Given the description of an element on the screen output the (x, y) to click on. 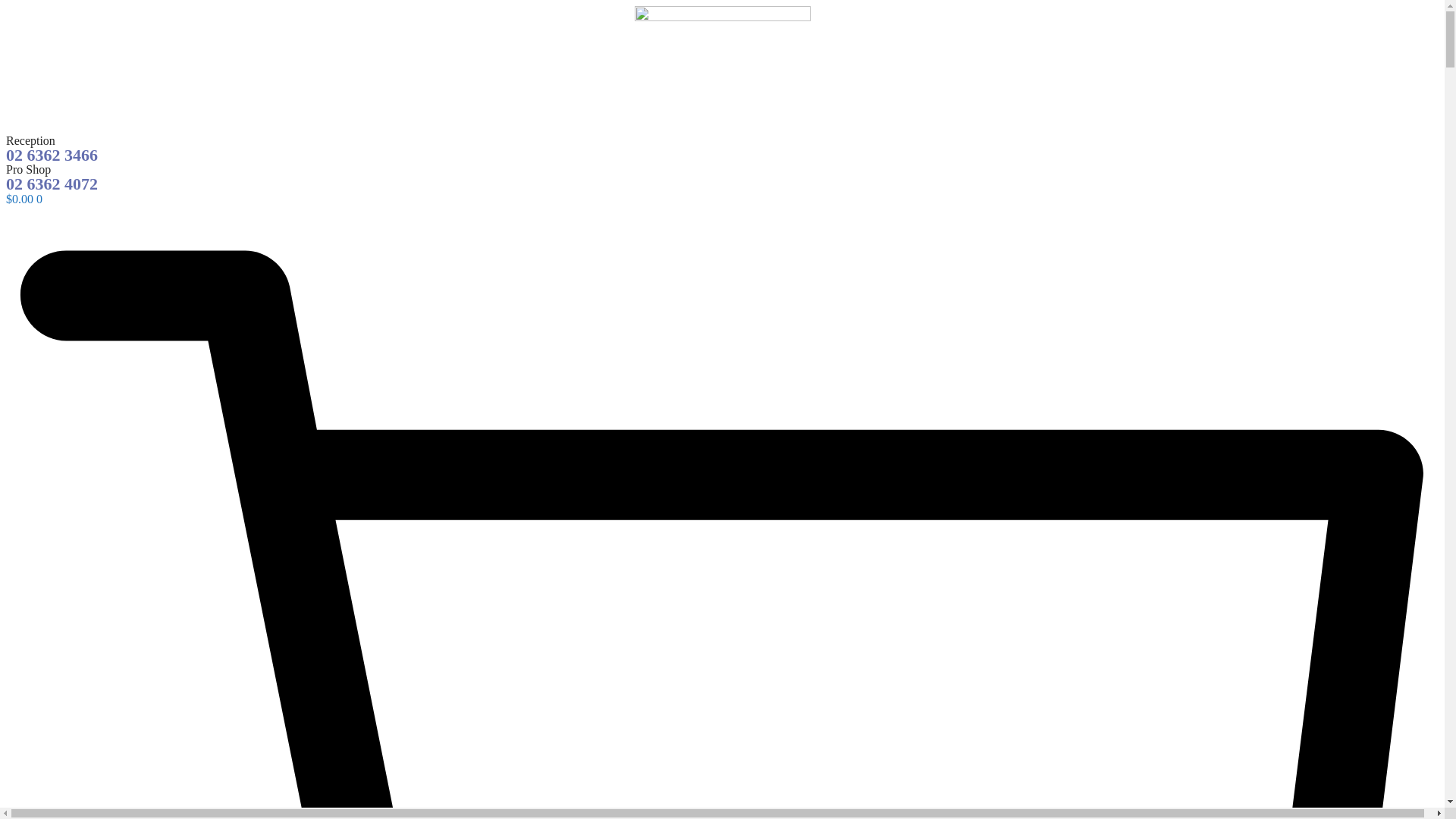
02 6362 3466 Element type: text (51, 154)
02 6362 4072 Element type: text (51, 183)
Skip to content Element type: text (5, 5)
